Given the description of an element on the screen output the (x, y) to click on. 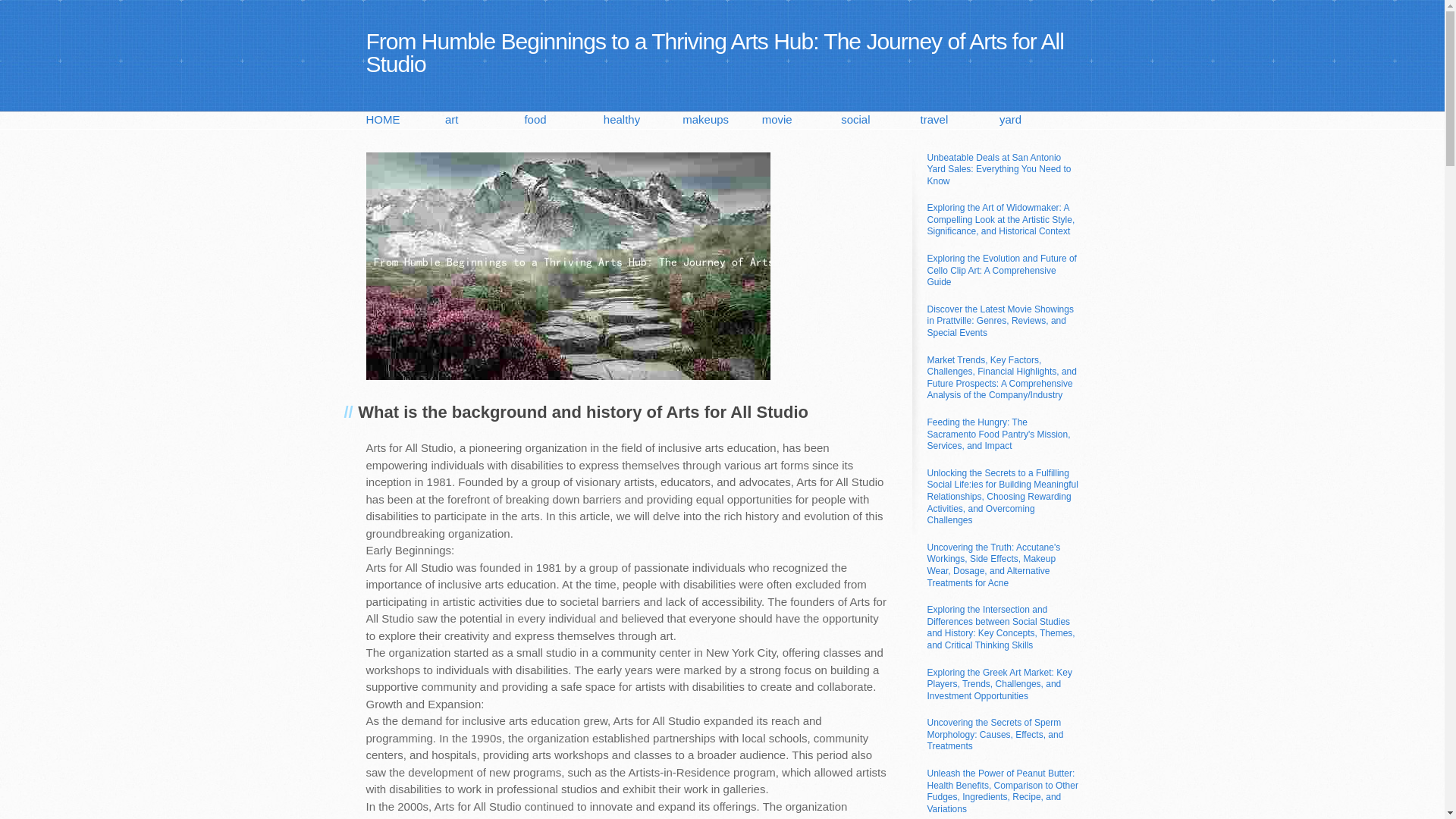
social (880, 119)
movie (801, 119)
art (484, 119)
travel (959, 119)
makeups (721, 119)
food (563, 119)
yard (1038, 119)
healthy (643, 119)
